Given the description of an element on the screen output the (x, y) to click on. 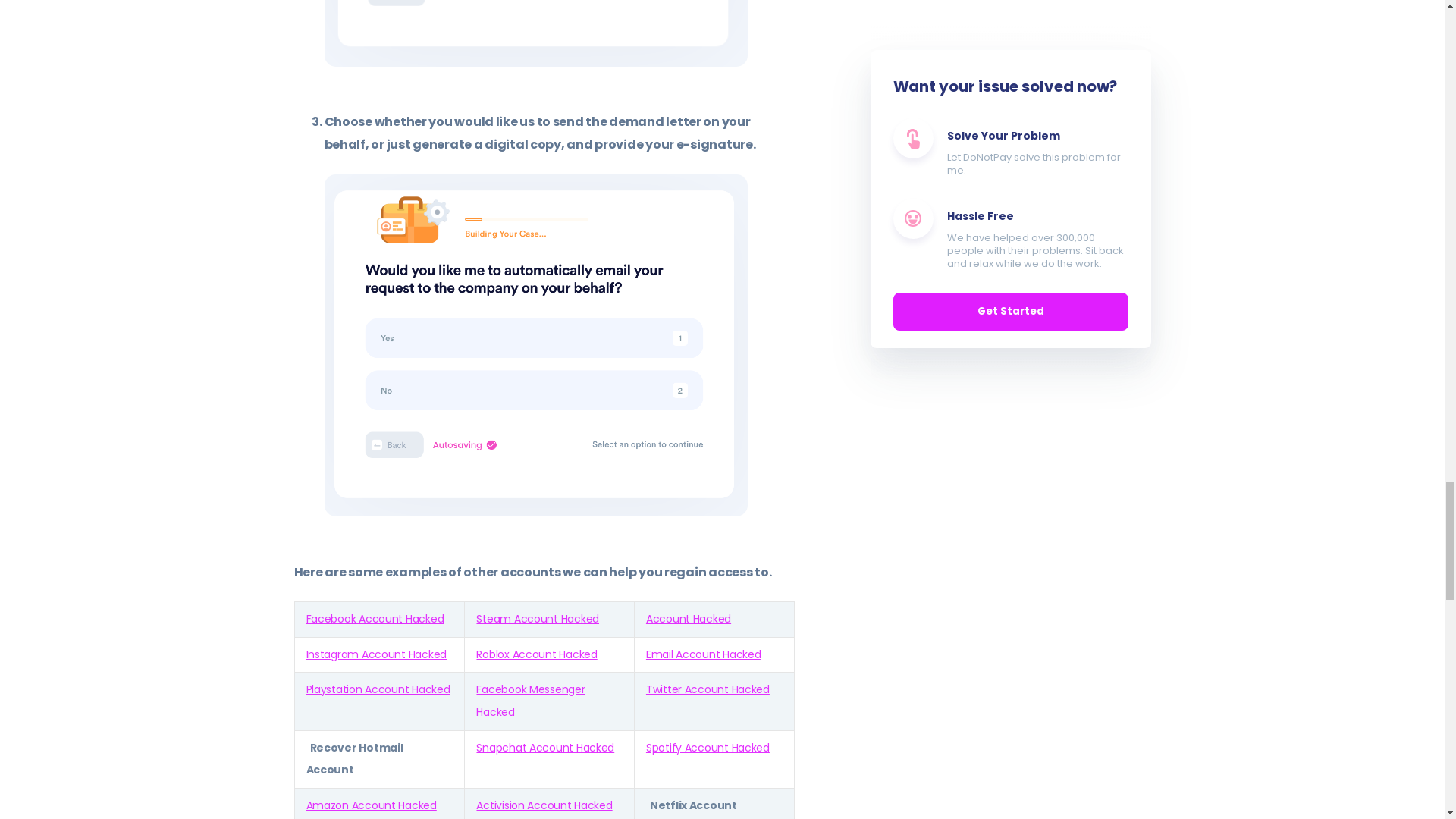
Roblox Account Hacked (536, 654)
Account Hacked (688, 618)
Steam Account Hacked (537, 618)
Playstation Account Hacked (377, 688)
Facebook Account Hacked (374, 618)
Email Account Hacked (703, 654)
Instagram Account Hacked (375, 654)
